Given the description of an element on the screen output the (x, y) to click on. 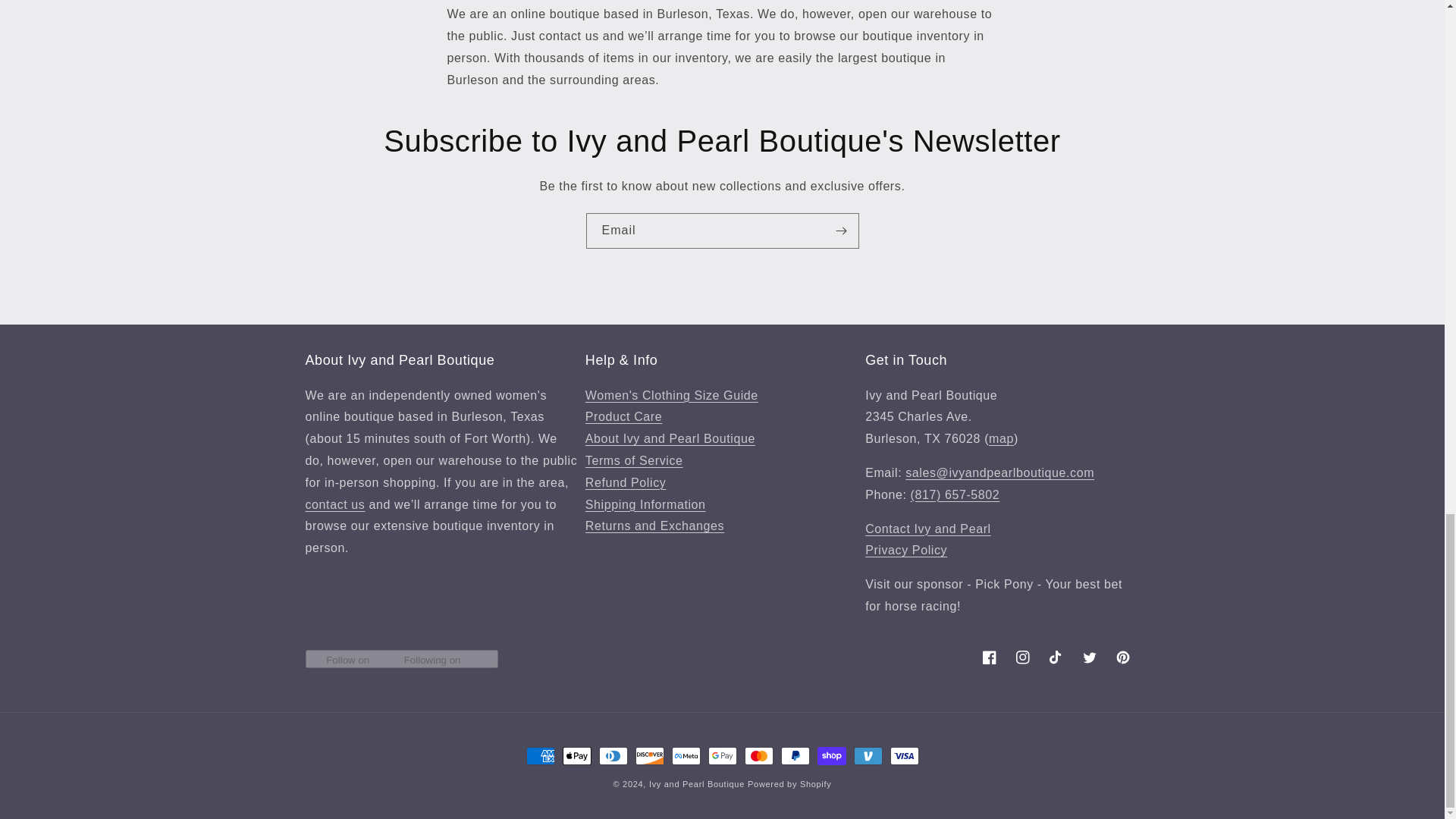
Contact (927, 528)
tel:8176575802 (955, 494)
Privacy Policy (905, 549)
Terms of Service (633, 460)
Returns and exchanges (654, 525)
Refund Policy (625, 481)
Shipping Policy (645, 504)
About Ivy and Pearl Boutique (670, 438)
Product care (623, 416)
Size guide (671, 395)
